Given the description of an element on the screen output the (x, y) to click on. 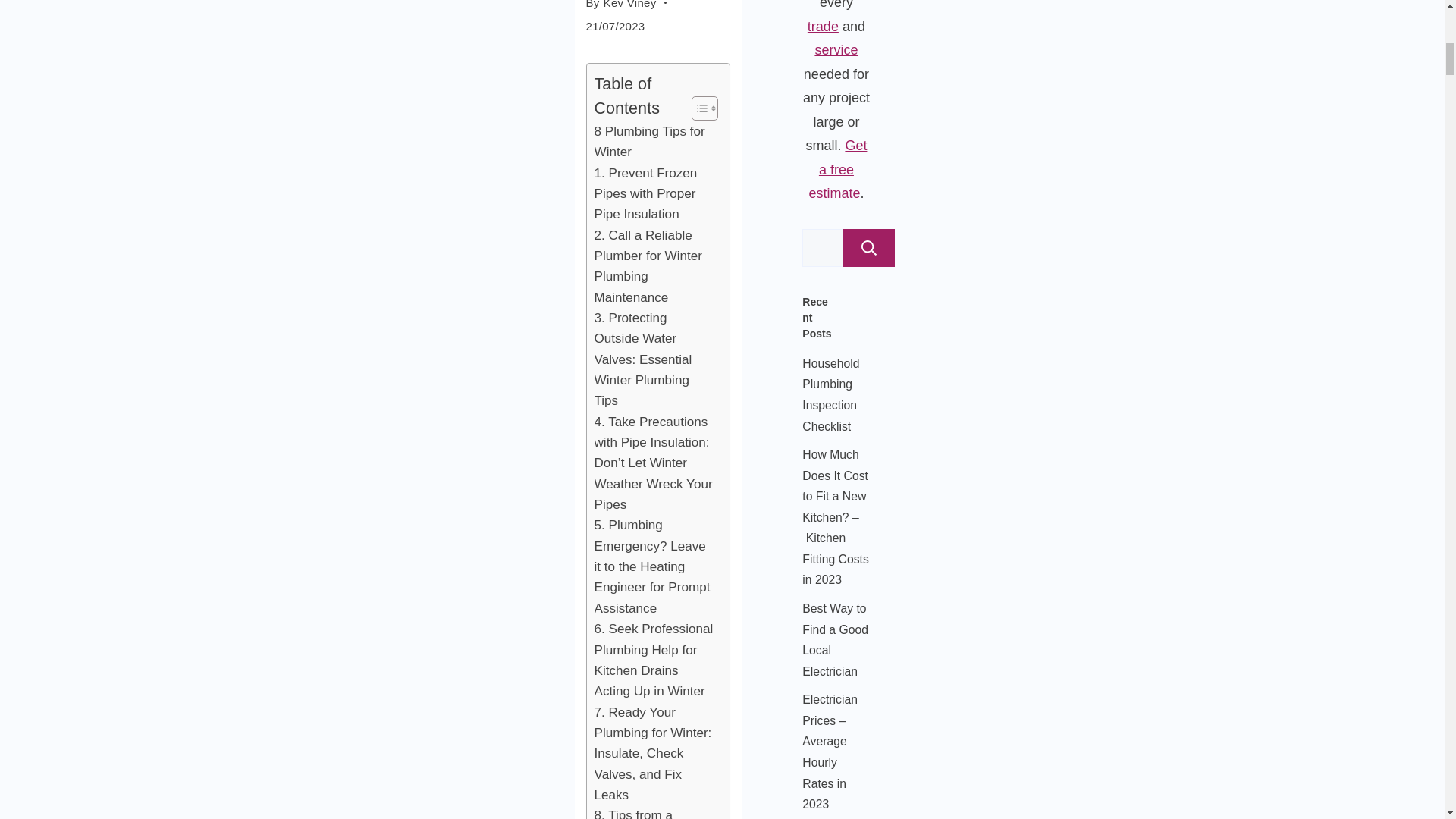
8 Plumbing Tips for Winter (654, 141)
1. Prevent Frozen Pipes with Proper Pipe Insulation (654, 193)
2. Call a Reliable Plumber for Winter Plumbing Maintenance (654, 266)
